Given the description of an element on the screen output the (x, y) to click on. 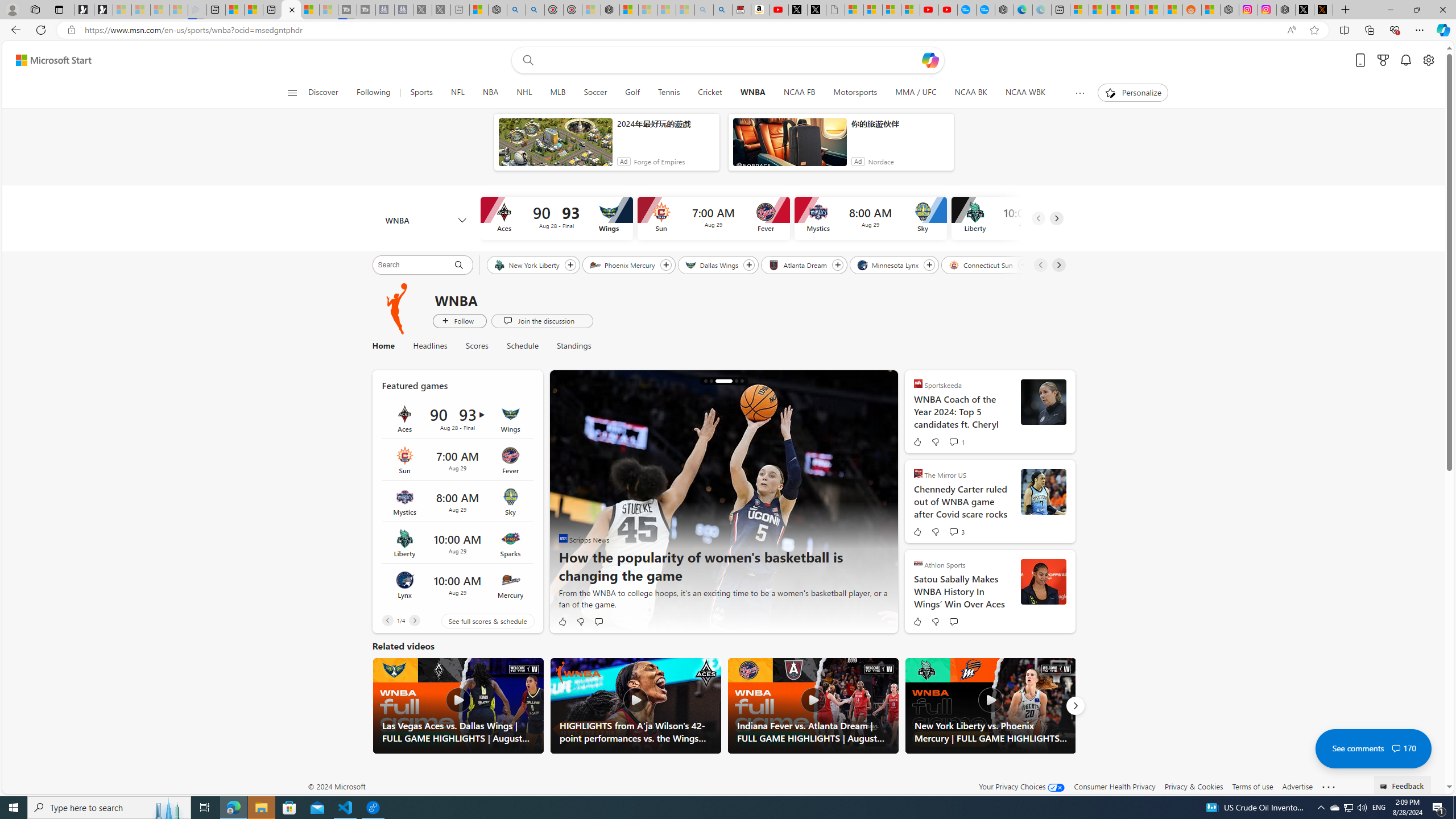
Atlanta Dream (798, 264)
Soccer (595, 92)
Class: button-glyph (292, 92)
NHL (524, 92)
WNBA (752, 92)
Open navigation menu (292, 92)
MLB (558, 92)
